Given the description of an element on the screen output the (x, y) to click on. 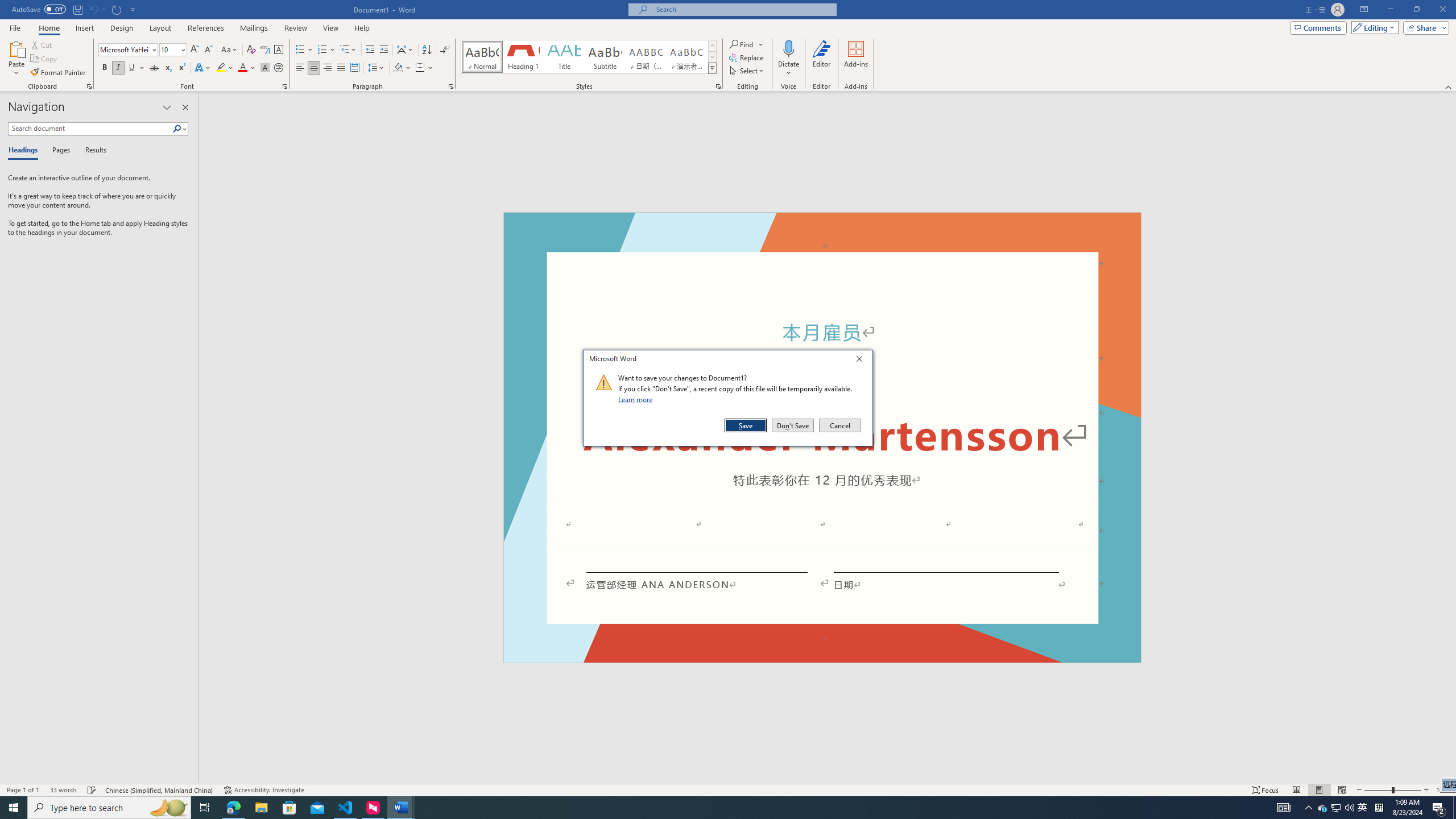
Learn more (636, 399)
Don't Save (792, 425)
